Given the description of an element on the screen output the (x, y) to click on. 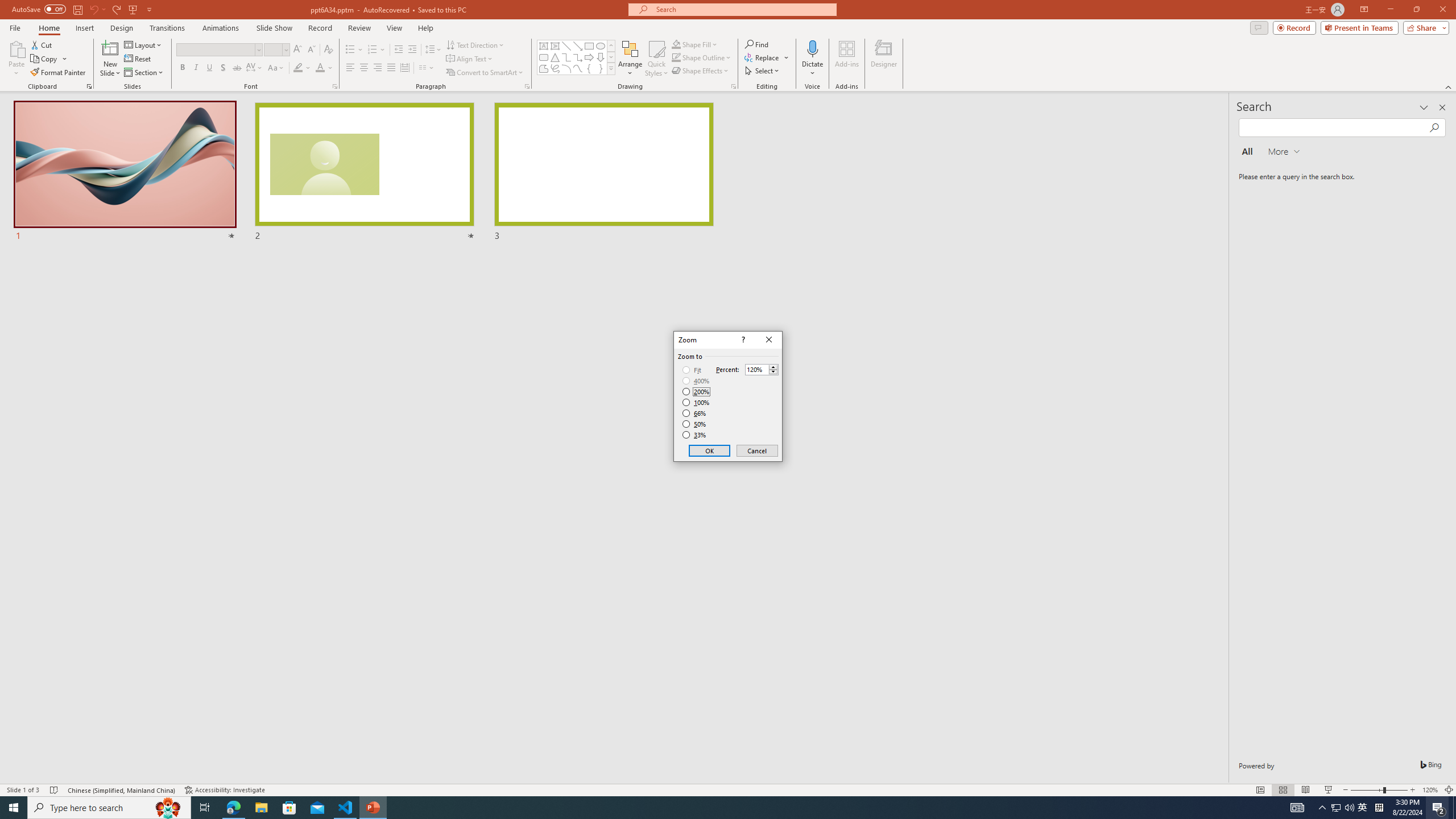
66% (694, 412)
33% (694, 434)
